Given the description of an element on the screen output the (x, y) to click on. 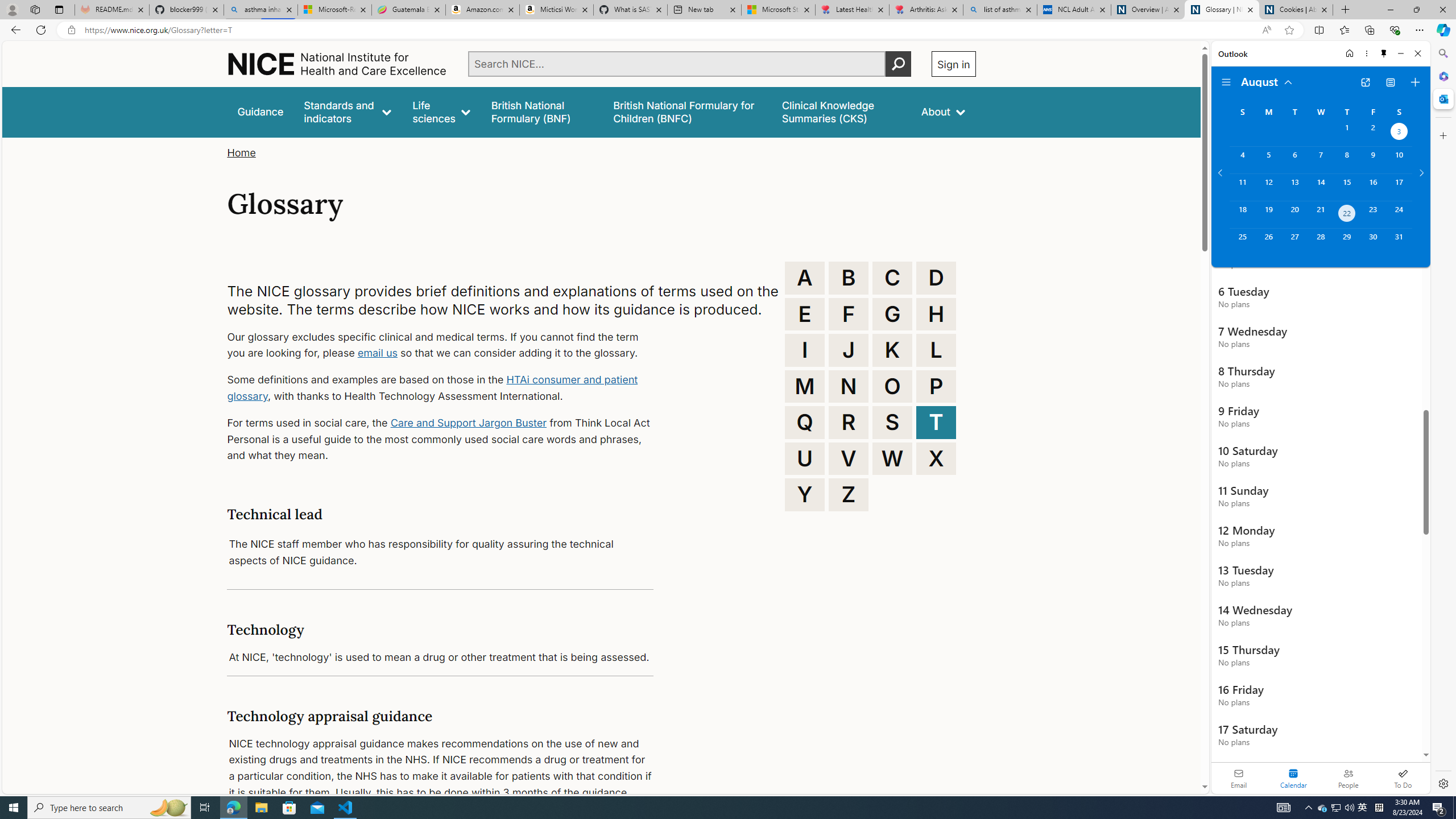
Tuesday, August 6, 2024.  (1294, 159)
false (841, 111)
L (935, 350)
W (892, 458)
To Do (1402, 777)
Guidance (260, 111)
I (804, 350)
Y (804, 494)
